Given the description of an element on the screen output the (x, y) to click on. 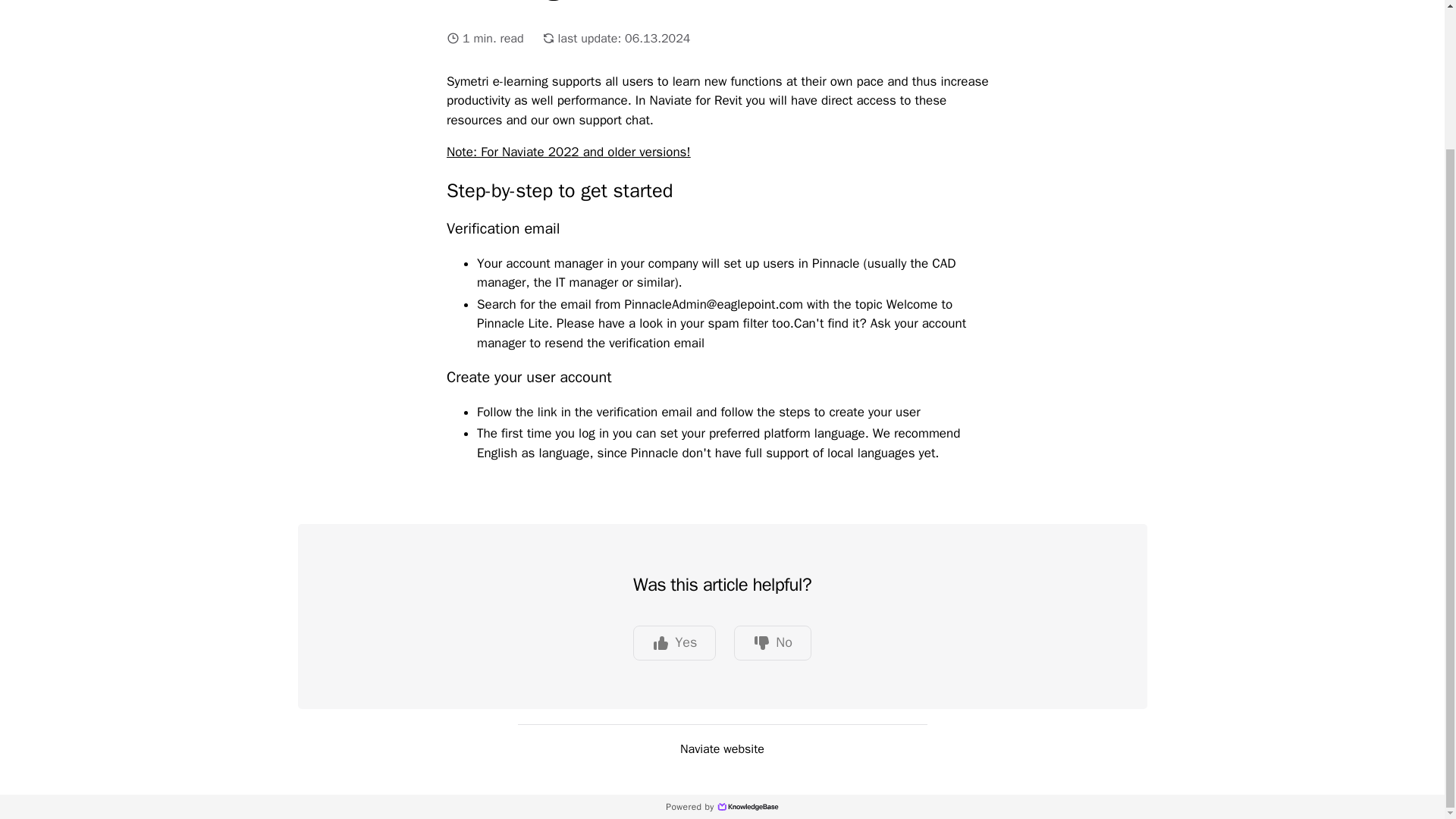
No (771, 642)
Yes (674, 642)
Naviate website (721, 741)
